Given the description of an element on the screen output the (x, y) to click on. 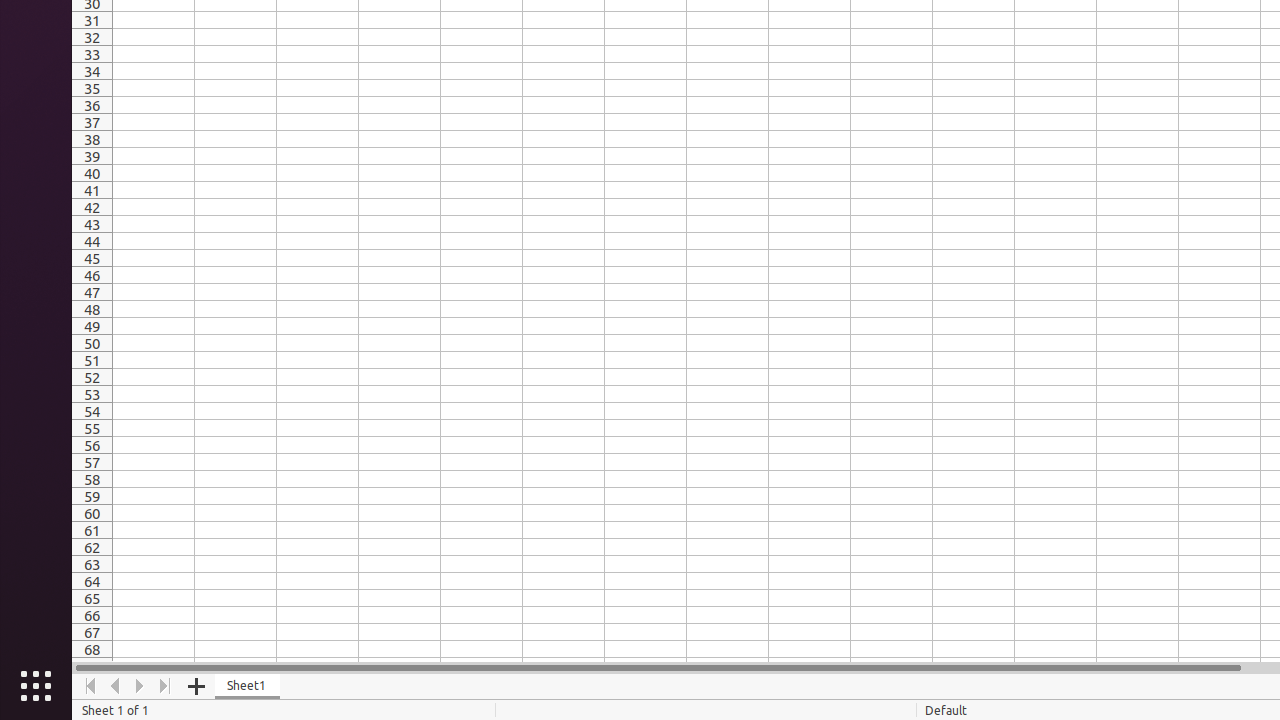
Move To Home Element type: push-button (90, 686)
Sheet1 Element type: page-tab (247, 686)
Move Right Element type: push-button (140, 686)
Move To End Element type: push-button (165, 686)
Move Left Element type: push-button (115, 686)
